Given the description of an element on the screen output the (x, y) to click on. 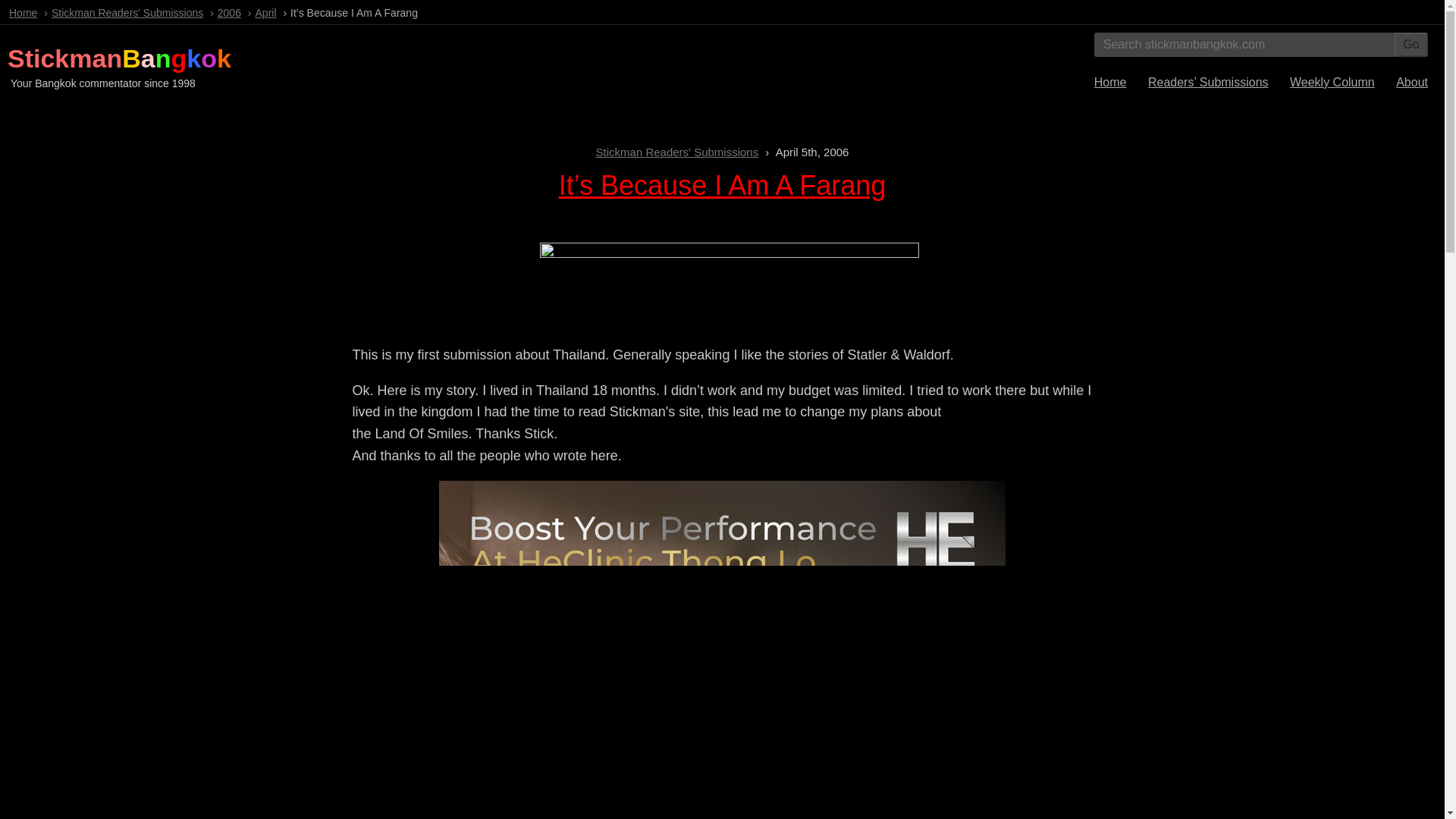
Home (22, 12)
Stickman Readers' Submissions (676, 151)
April (266, 12)
Go (1411, 44)
Stickman Readers' Submissions (126, 12)
Weekly Column (1332, 82)
Home (1109, 82)
StickmanBangkok (119, 58)
2006 (228, 12)
About (1412, 82)
